Given the description of an element on the screen output the (x, y) to click on. 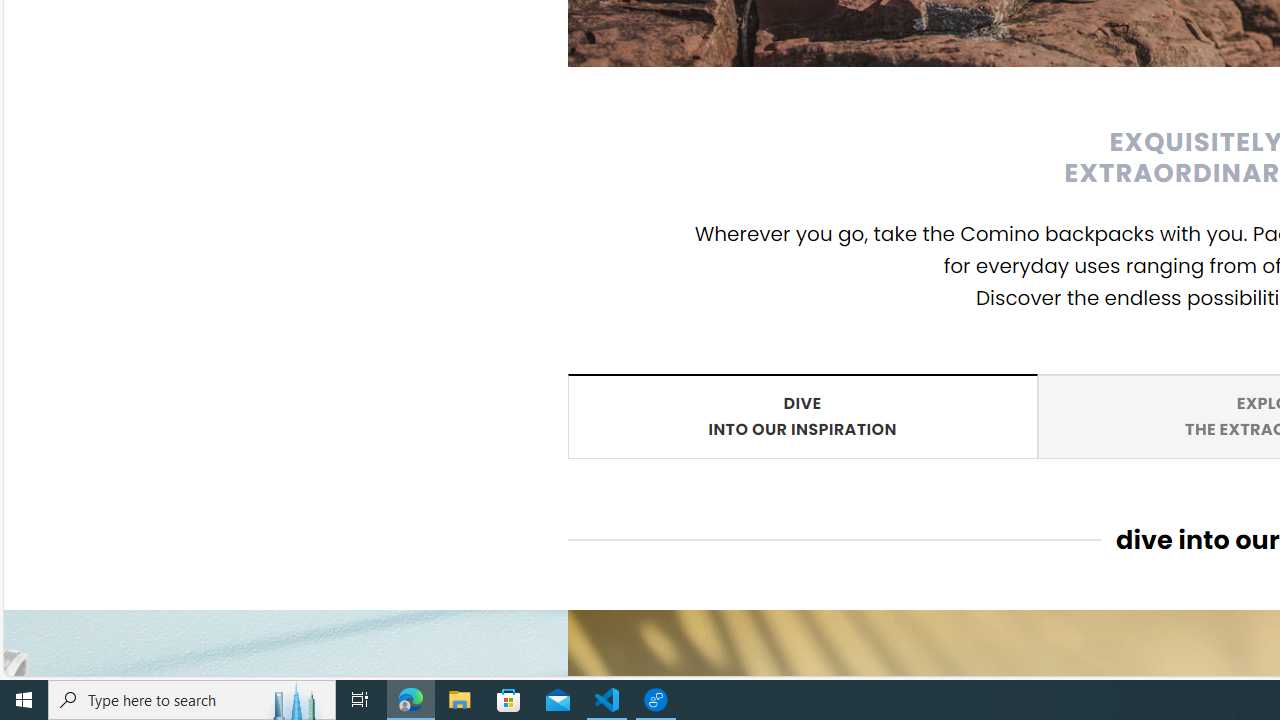
DIVE INTO OUR INSPIRATION (802, 415)
